Given the description of an element on the screen output the (x, y) to click on. 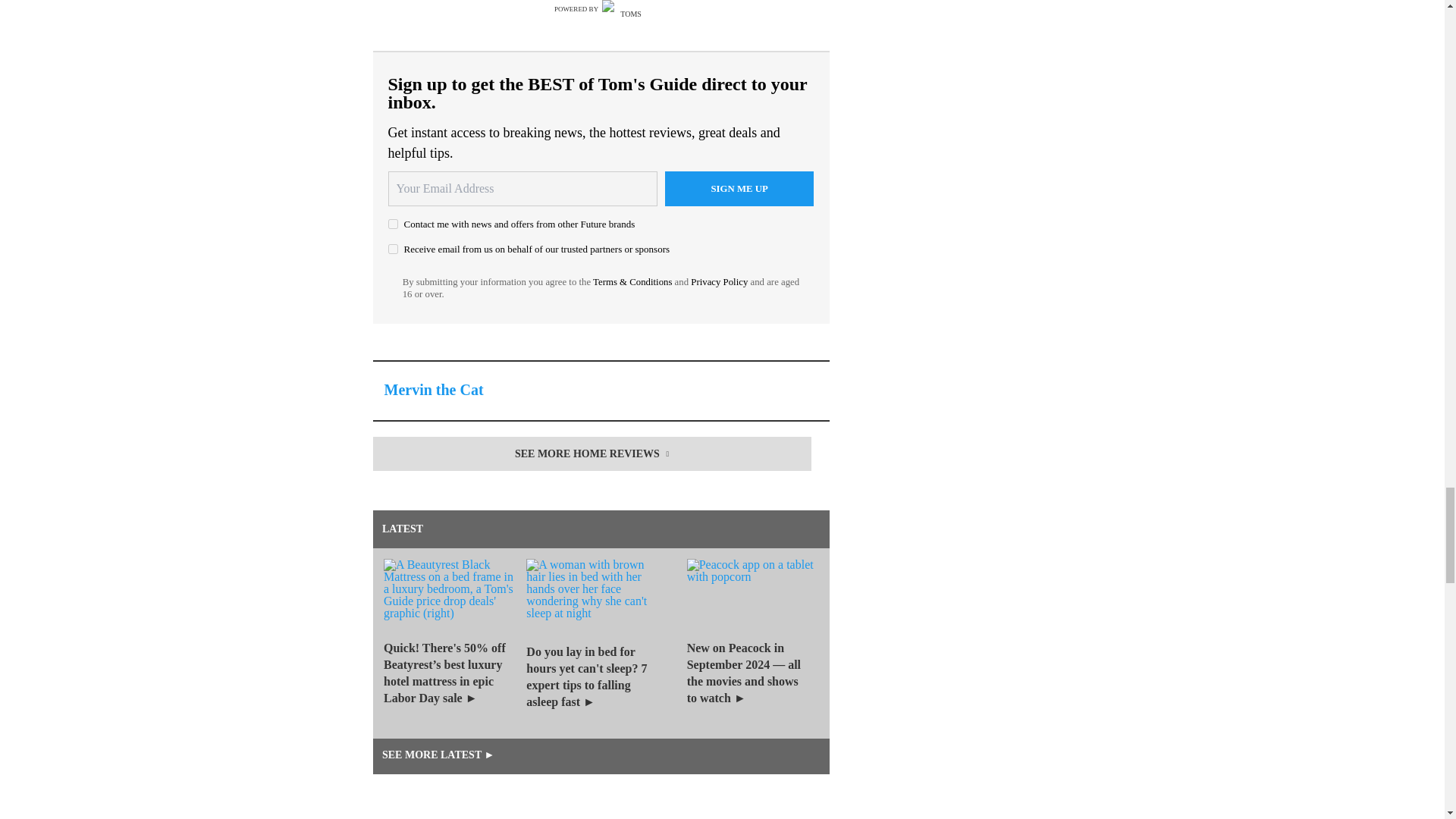
on (392, 248)
Toms Guide (624, 9)
on (392, 224)
Sign me up (739, 188)
